Given the description of an element on the screen output the (x, y) to click on. 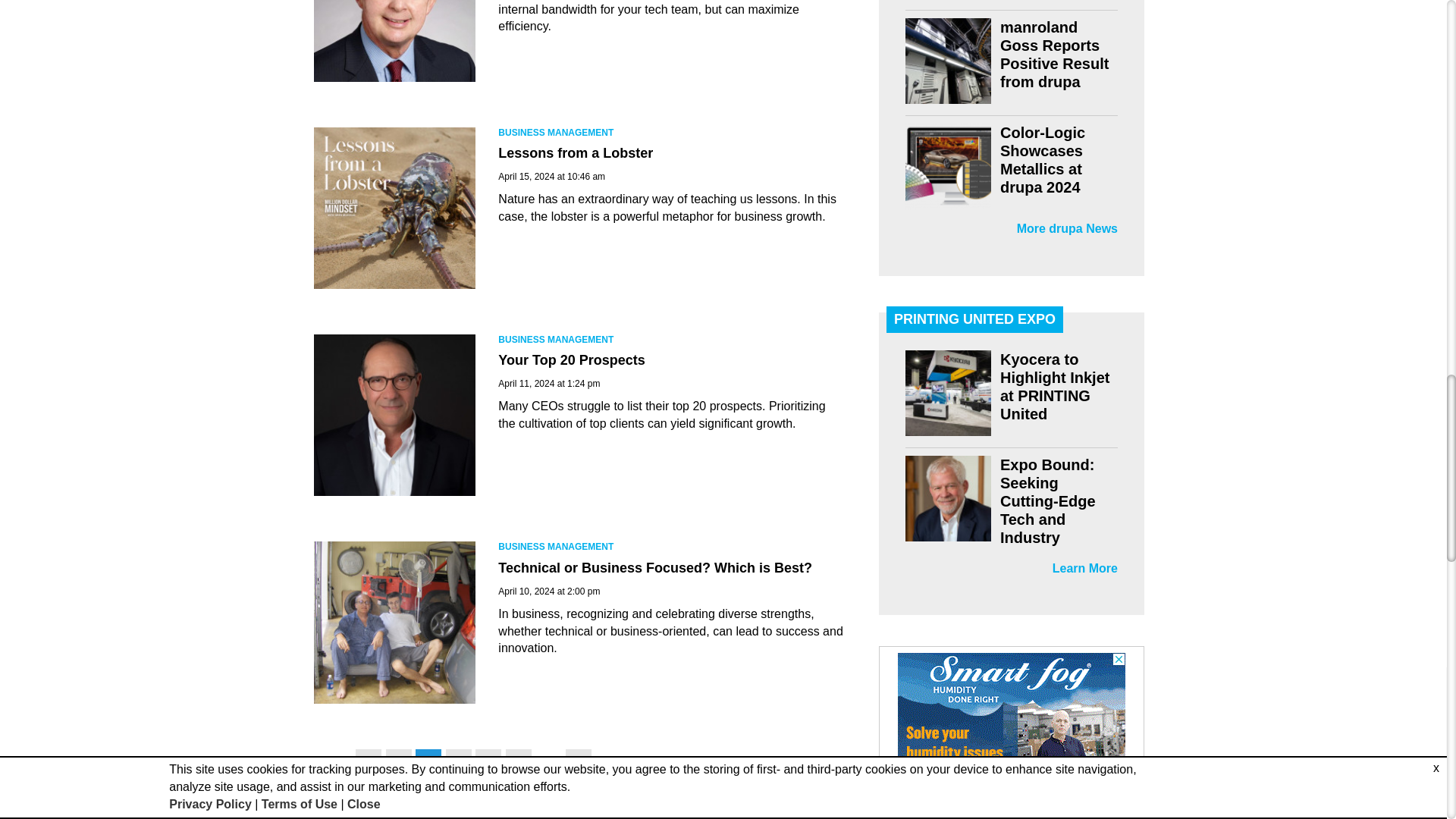
3rd party ad content (1011, 735)
